Given the description of an element on the screen output the (x, y) to click on. 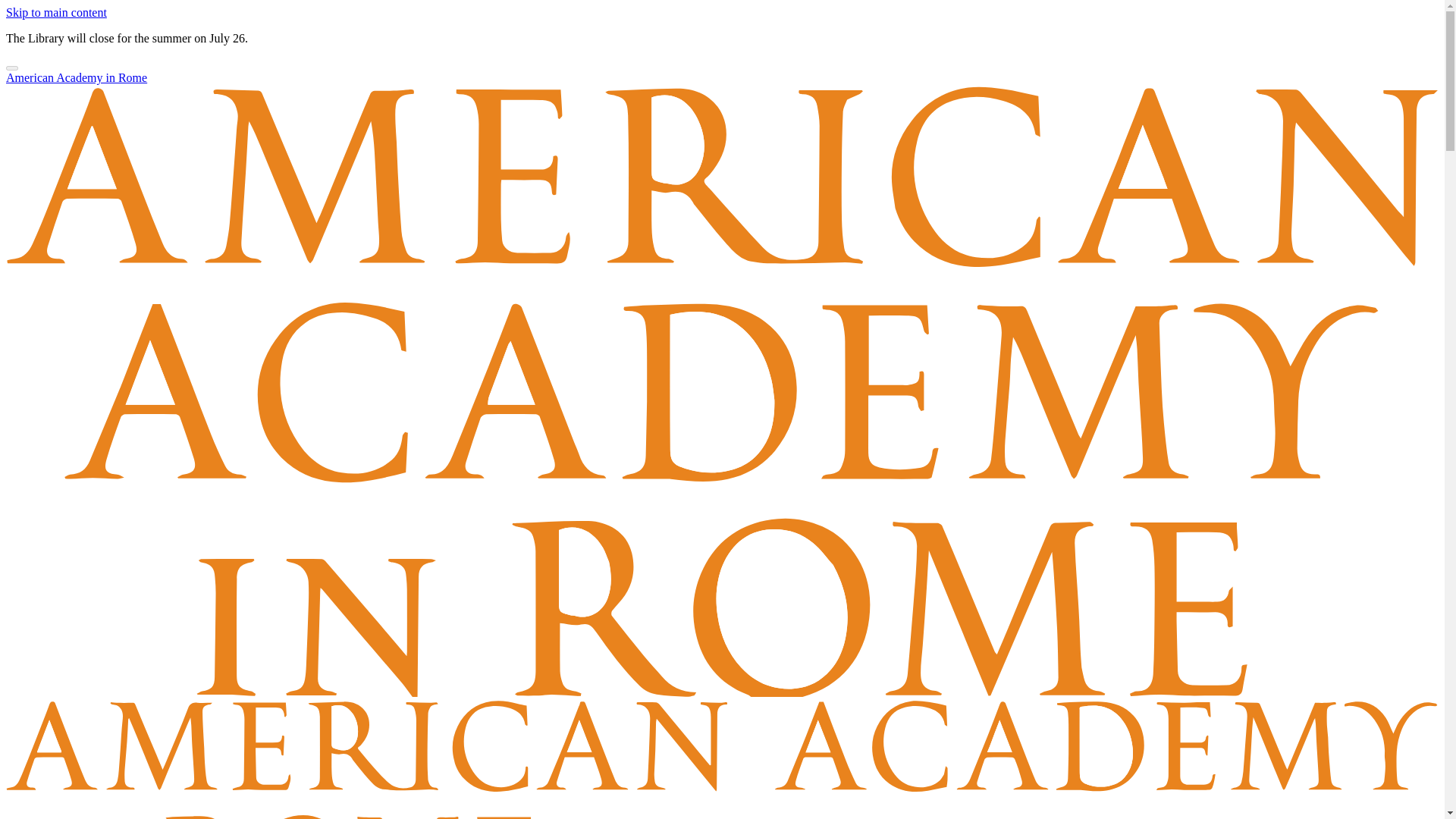
Skip to main content (55, 11)
